Given the description of an element on the screen output the (x, y) to click on. 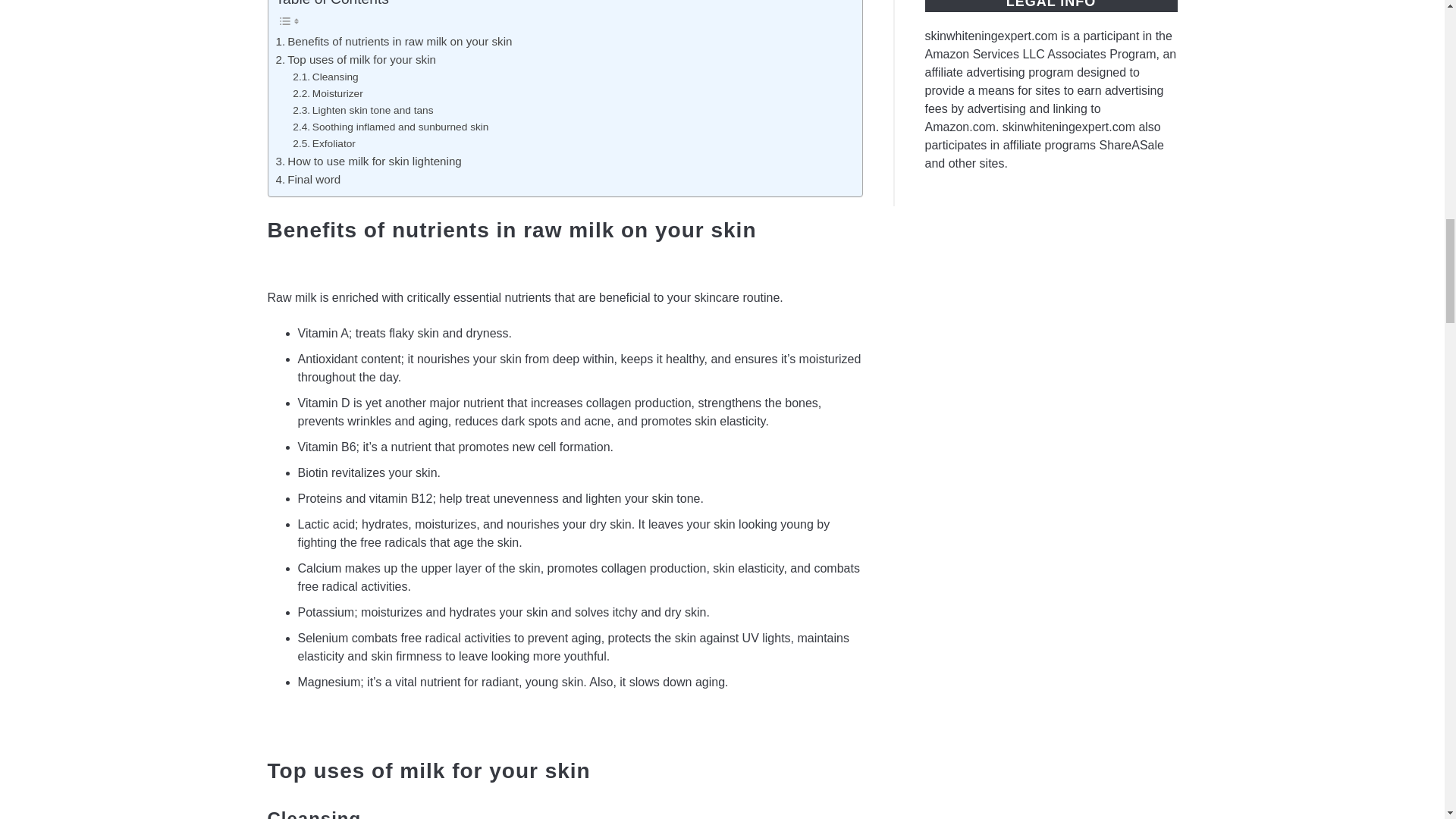
Moisturizer (327, 93)
Benefits of nutrients in raw milk on your skin (394, 40)
Exfoliator (323, 143)
Benefits of nutrients in raw milk on your skin (394, 40)
Lighten skin tone and tans (362, 110)
Soothing inflamed and sunburned skin (389, 126)
Top uses of milk for your skin (356, 59)
How to use milk for skin lightening (368, 161)
Final word (308, 179)
How to use milk for skin lightening (368, 161)
